Given the description of an element on the screen output the (x, y) to click on. 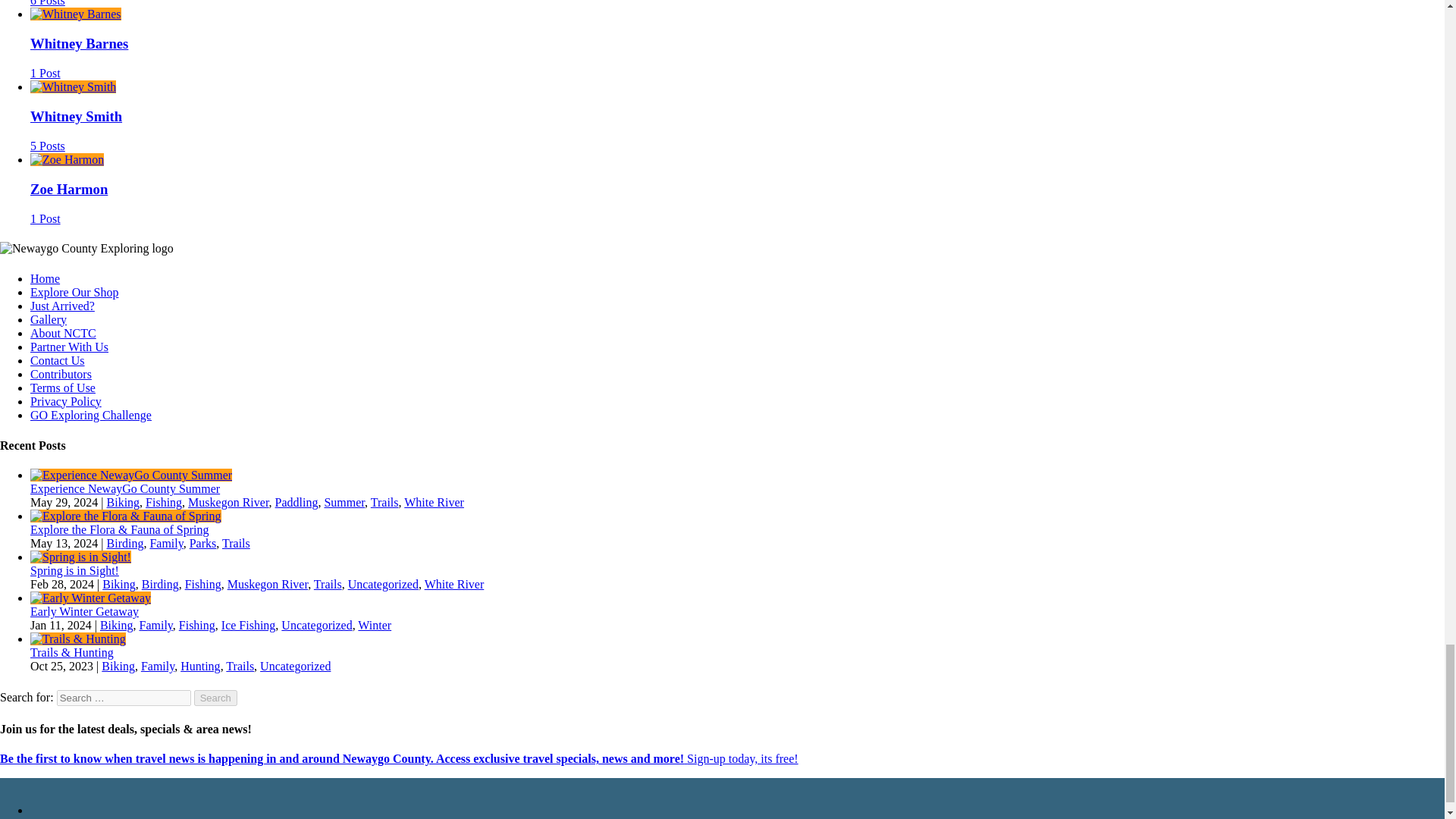
Premium WordPress Themes (102, 784)
Search (215, 697)
Spring is in Sight! (80, 556)
Early Winter Getaway (90, 597)
Search (215, 697)
Experience NewayGo County Summer (130, 474)
